Given the description of an element on the screen output the (x, y) to click on. 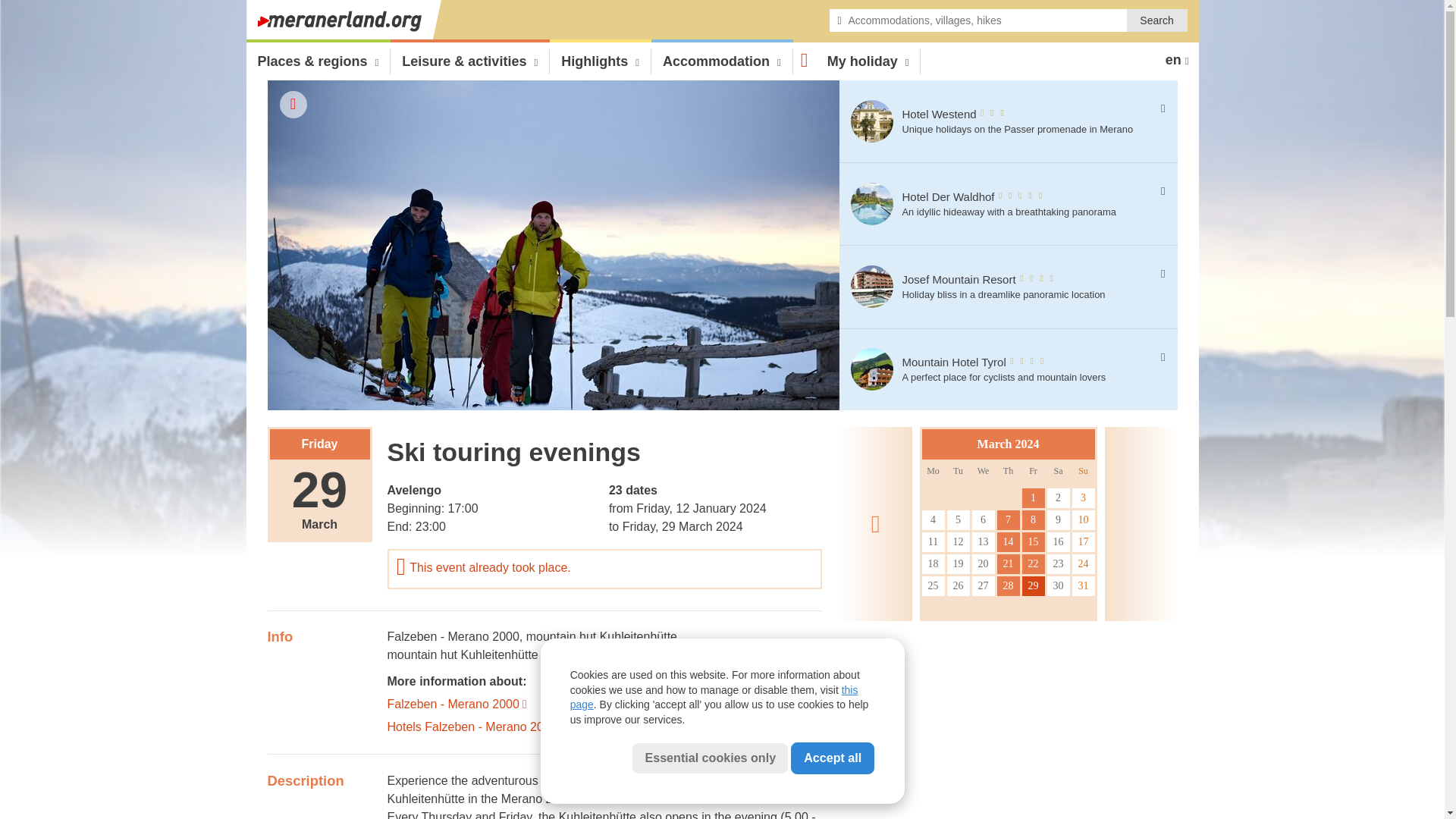
Falzeben - Merano 2000 (452, 635)
Hotels Falzeben - Merano 2000 (604, 724)
Falzeben - Merano 2000 (604, 702)
Avelengo (414, 490)
